Given the description of an element on the screen output the (x, y) to click on. 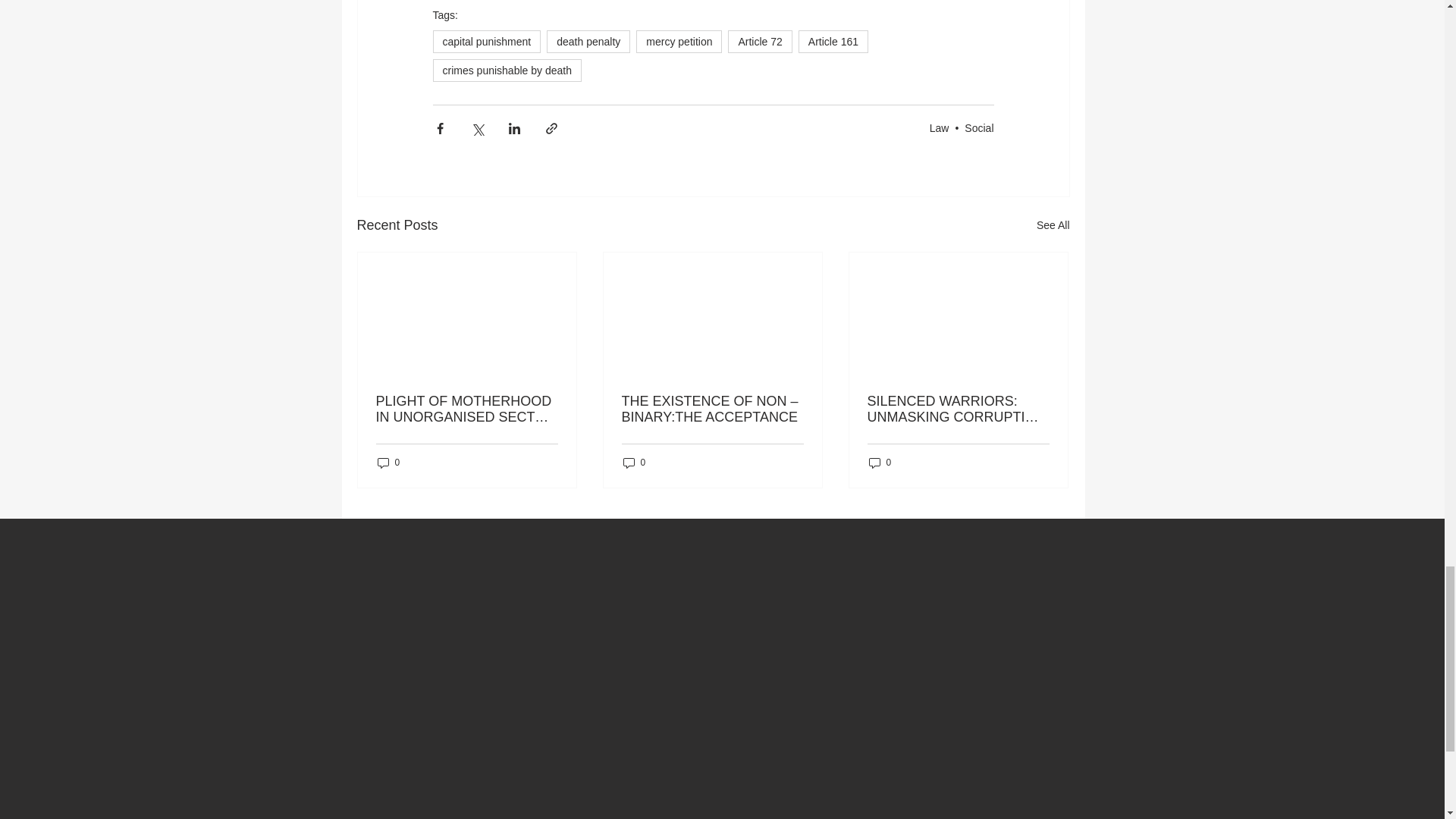
death penalty (588, 41)
Social (977, 127)
See All (1053, 225)
Article 72 (760, 41)
capital punishment (486, 41)
Law (939, 127)
mercy petition (679, 41)
crimes punishable by death (506, 69)
Article 161 (832, 41)
